Given the description of an element on the screen output the (x, y) to click on. 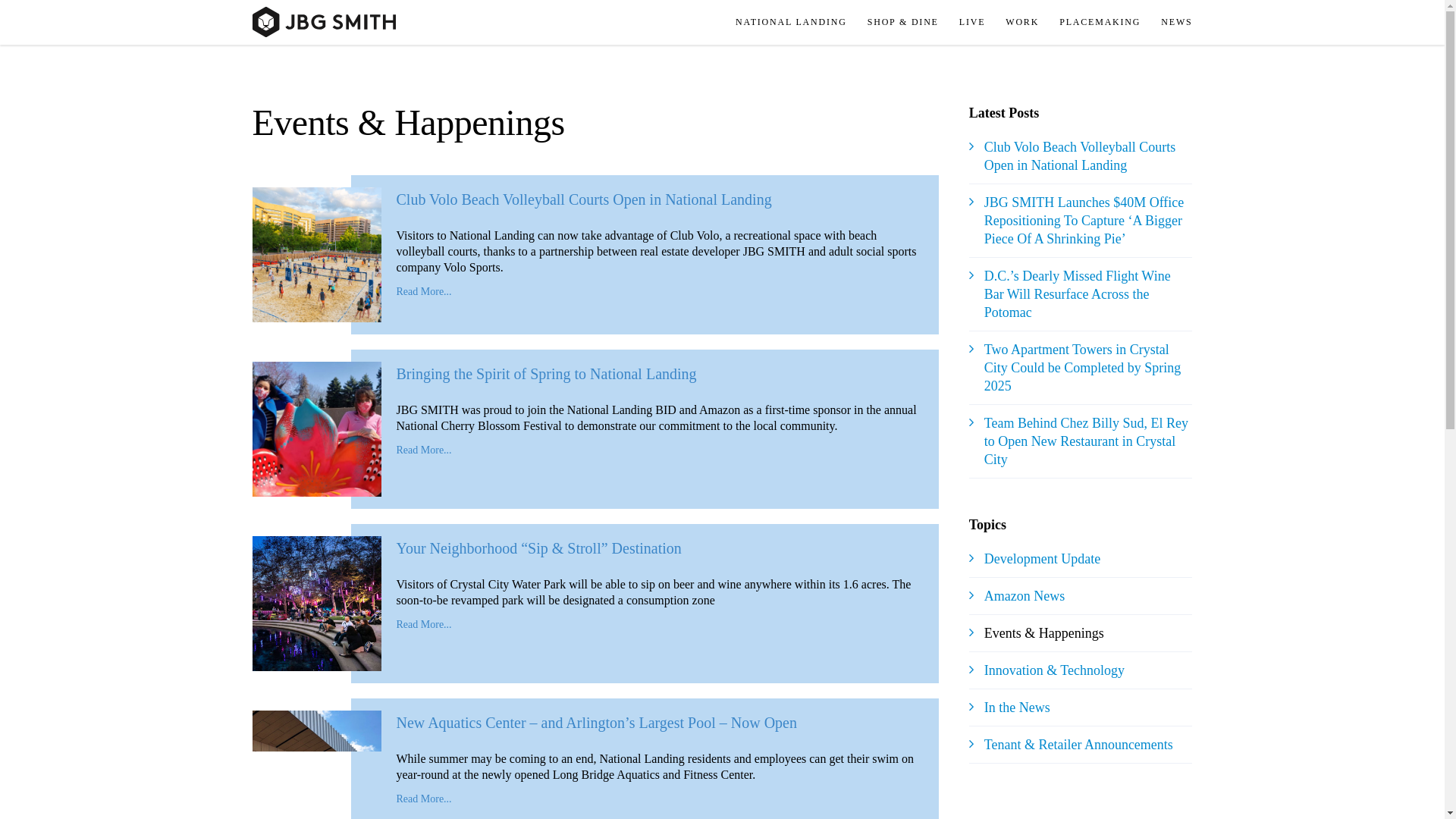
Development Update (1042, 558)
Club Volo Beach Volleyball Courts Open in National Landing (583, 199)
In the News (1016, 707)
Read More... (423, 798)
Club Volo Beach Volleyball Courts Open in National Landing (1080, 155)
Read More... (423, 624)
Location (801, 58)
WORK (1029, 22)
Read More... (423, 291)
Sustainability (1121, 58)
